Given the description of an element on the screen output the (x, y) to click on. 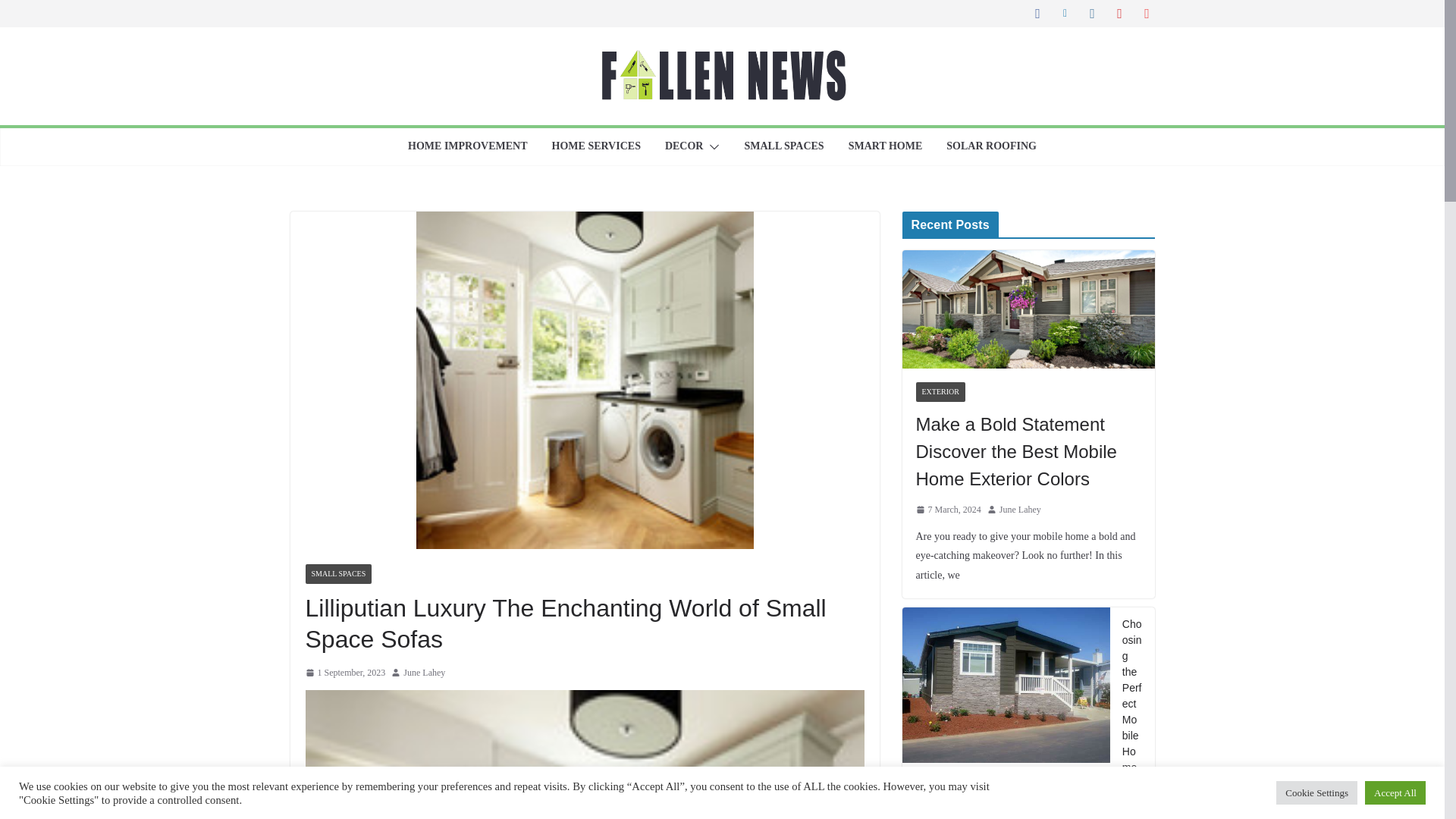
HOME SERVICES (595, 146)
HOME IMPROVEMENT (467, 146)
DECOR (684, 146)
